Given the description of an element on the screen output the (x, y) to click on. 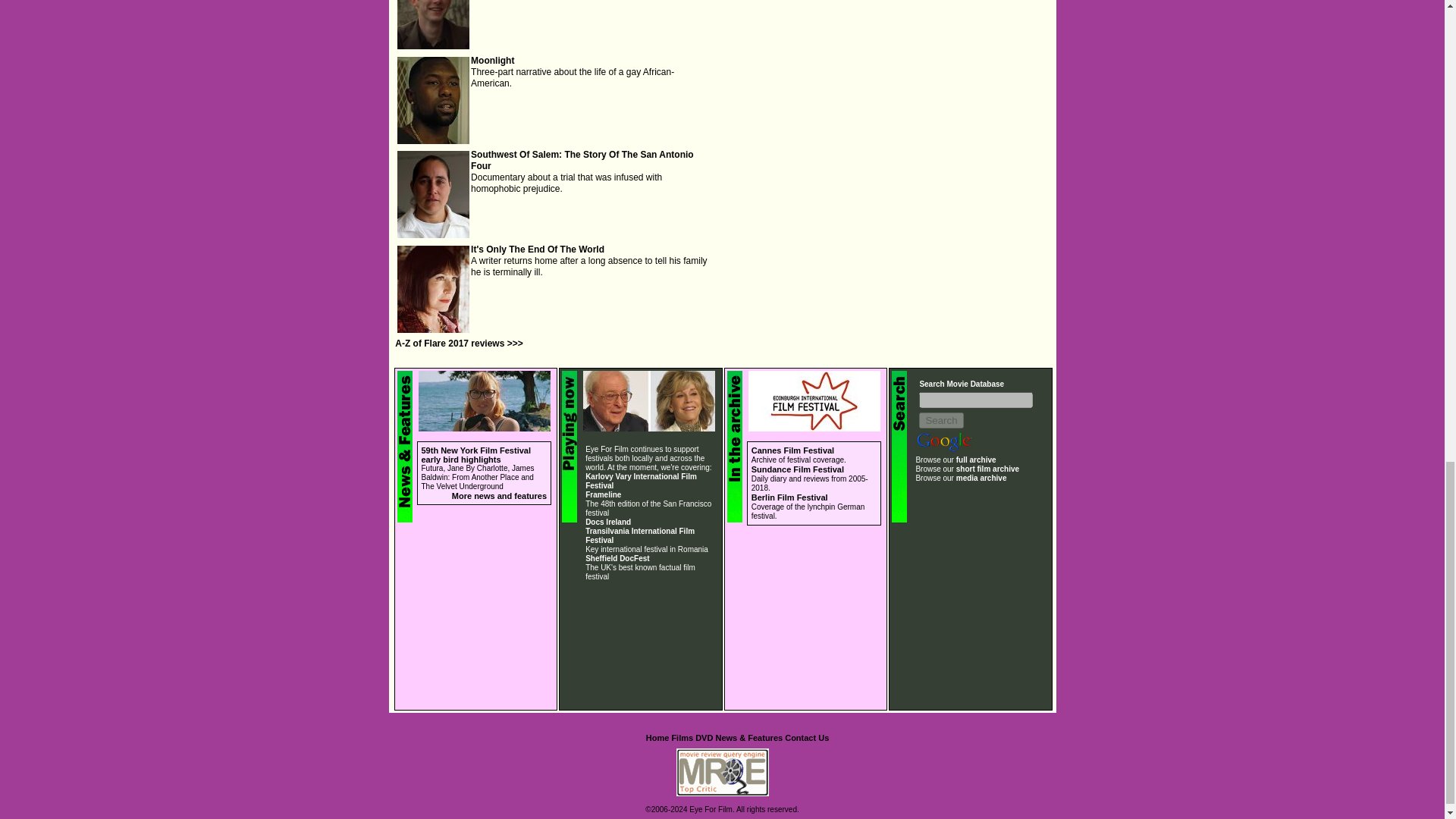
Search (940, 420)
